Given the description of an element on the screen output the (x, y) to click on. 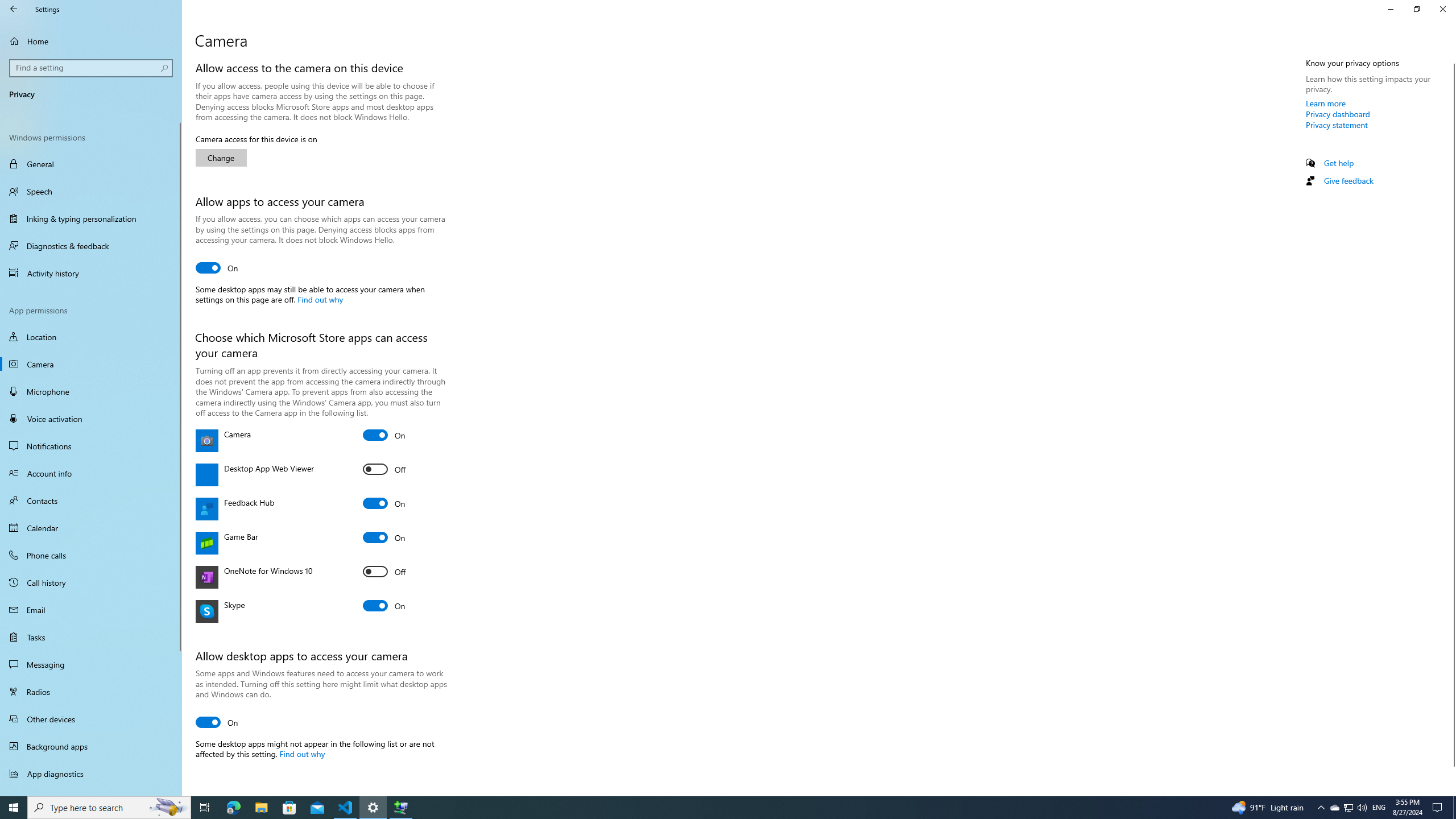
Search box, Find a setting (91, 67)
Contacts (91, 500)
Phone calls (91, 554)
Camera (91, 363)
Vertical Small Decrease (1451, 58)
Privacy statement (1336, 124)
Allow desktop apps to access your camera (216, 722)
